Given the description of an element on the screen output the (x, y) to click on. 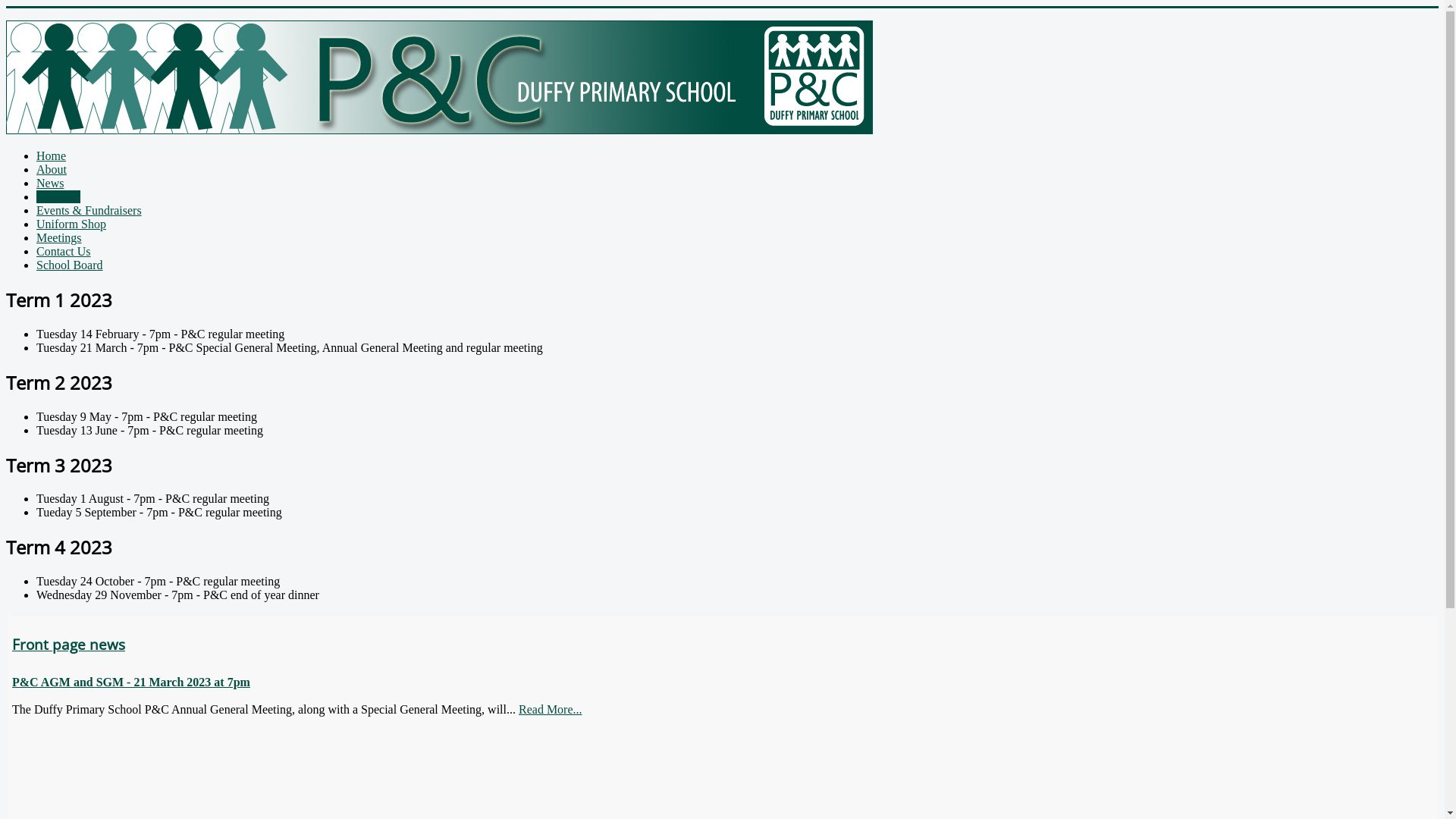
Front page news Element type: text (68, 643)
About Element type: text (51, 169)
Read More... Element type: text (550, 708)
Contact Us Element type: text (63, 250)
Meetings Element type: text (58, 237)
Uniform Shop Element type: text (71, 223)
P&C AGM and SGM - 21 March 2023 at 7pm Element type: text (131, 681)
Calendar Element type: text (58, 196)
News Element type: text (49, 182)
Events & Fundraisers Element type: text (88, 209)
School Board Element type: text (69, 264)
Home Element type: text (50, 155)
